Given the description of an element on the screen output the (x, y) to click on. 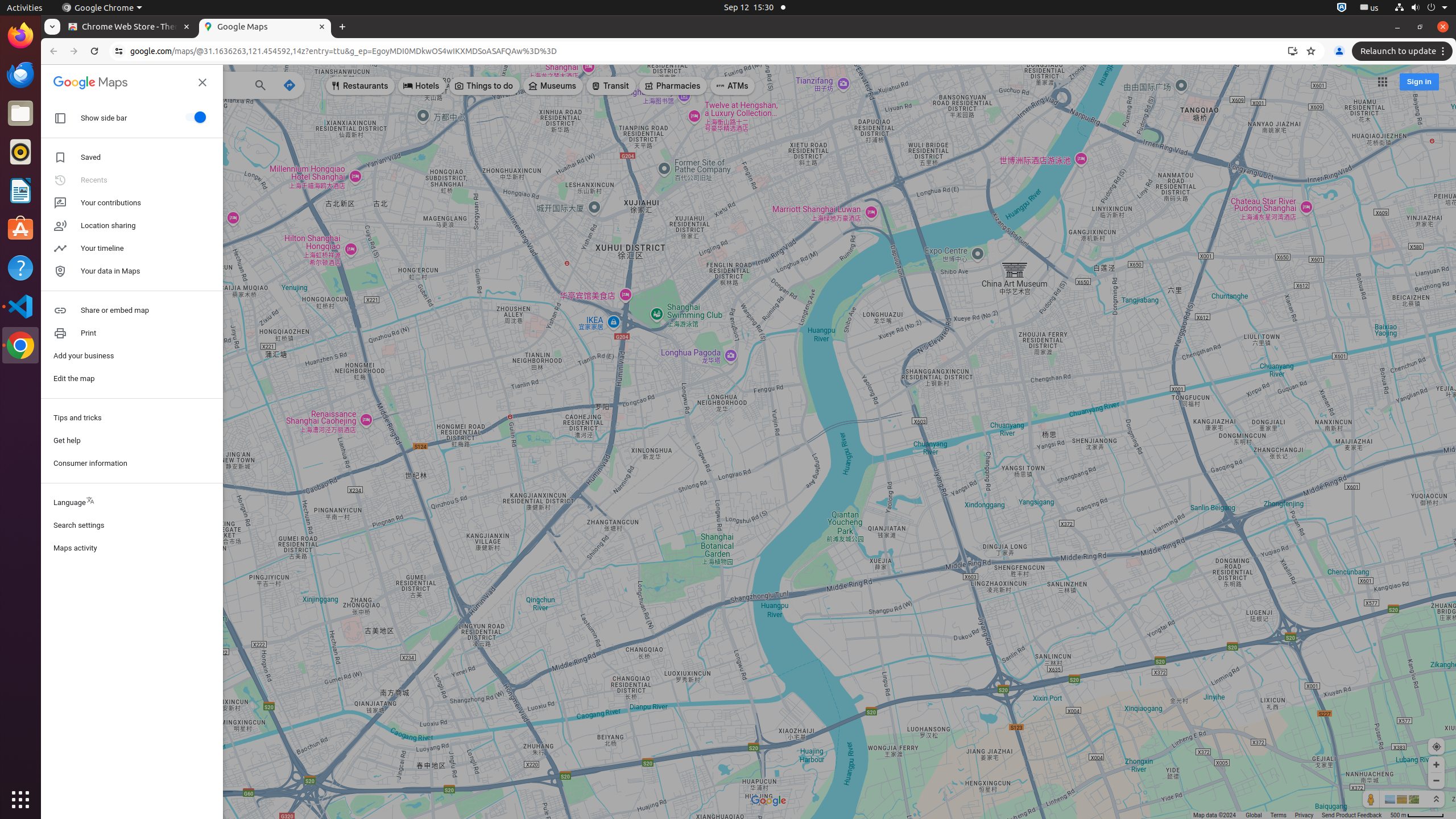
Show Your Location Element type: toggle-button (1436, 746)
Your data in Maps Element type: menu-item (131, 271)
Show imagery Element type: push-button (1412, 798)
Museums Element type: push-button (552, 85)
Restaurants Element type: push-button (360, 85)
